Given the description of an element on the screen output the (x, y) to click on. 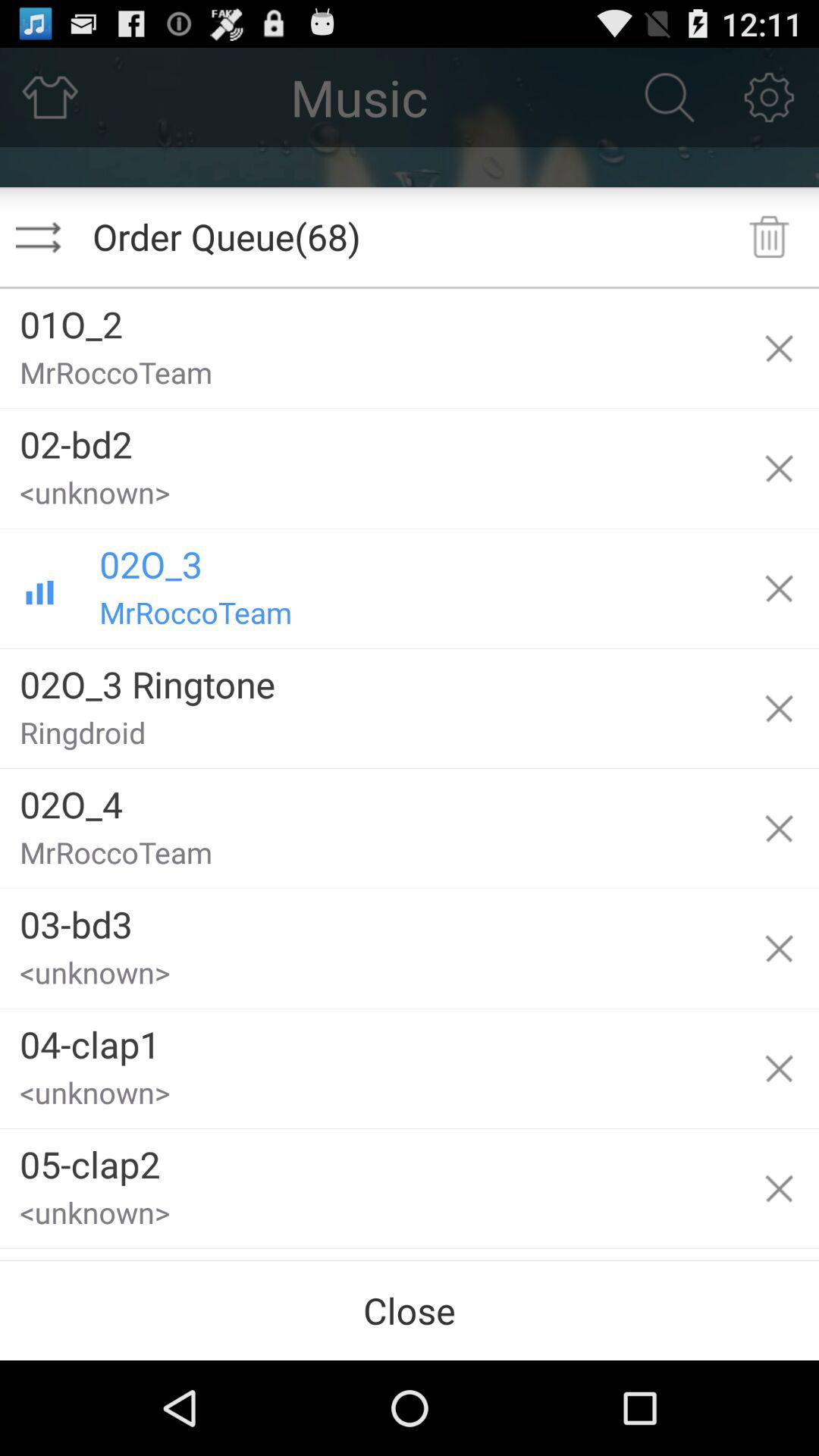
scroll to 05-clap2 icon (369, 1158)
